Given the description of an element on the screen output the (x, y) to click on. 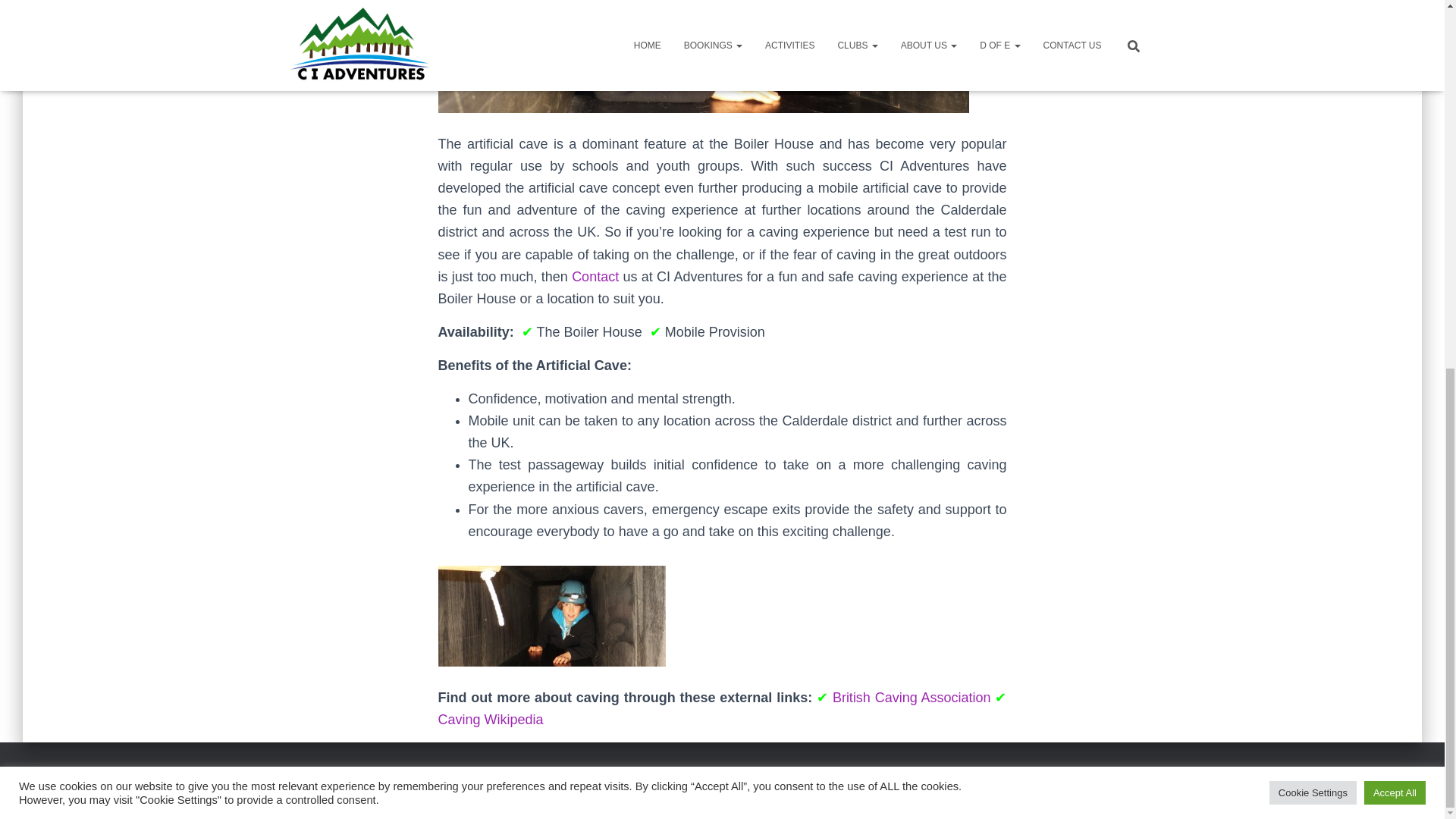
CONTACT US (943, 783)
Caving Wikipedia (490, 719)
FIND US (870, 783)
Cookie Settings (1312, 125)
ThemeIsle (1129, 784)
Contact (595, 276)
Accept All (1394, 125)
COMPANY DETAILS (784, 783)
GENERAL DISCLAIMER (351, 783)
British Caving Association (911, 697)
